Given the description of an element on the screen output the (x, y) to click on. 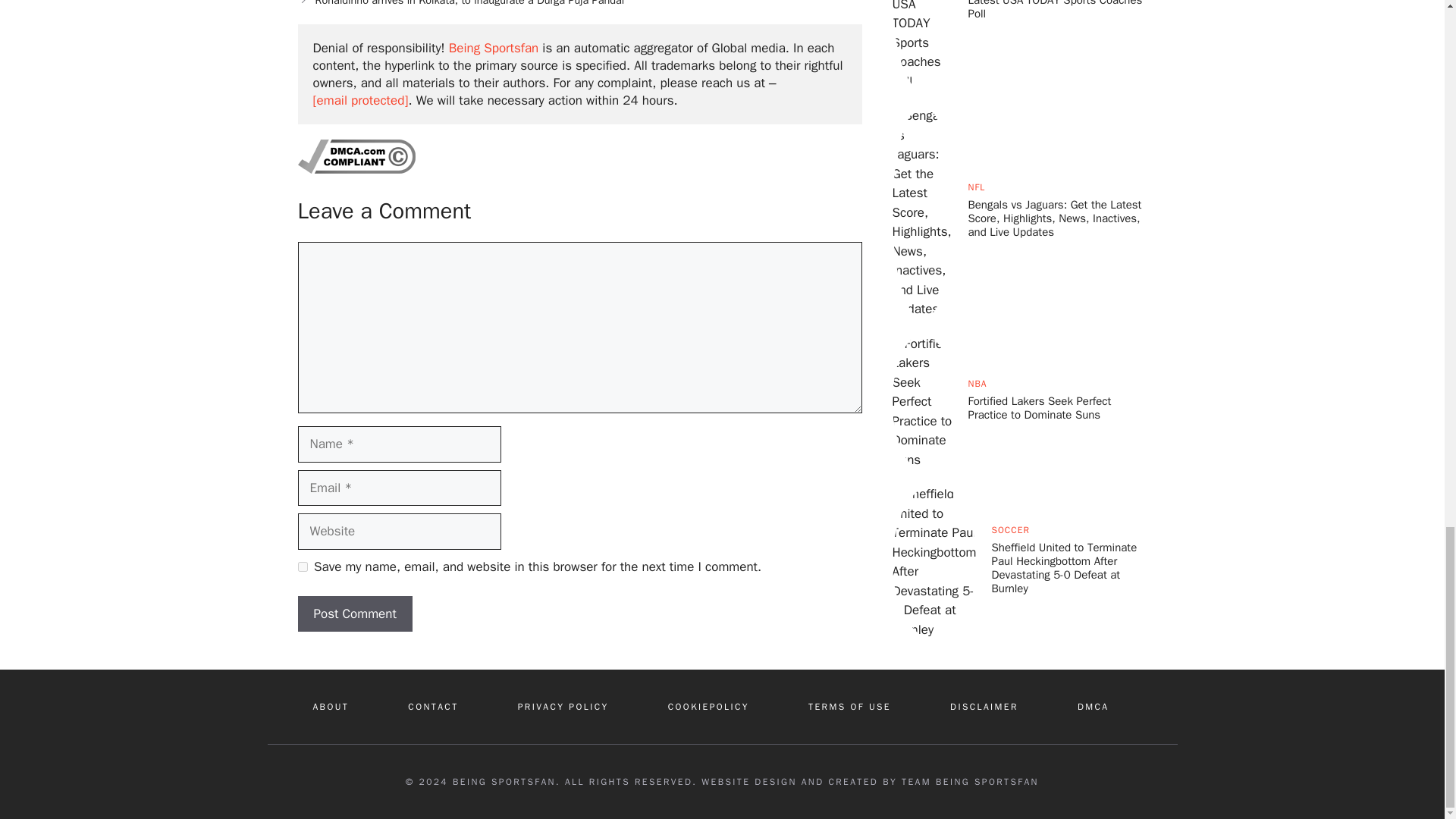
yes (302, 566)
DMCA Compliance information for beingsportsfan.com (355, 169)
Post Comment (354, 614)
Post Comment (354, 614)
Being Sportsfan (493, 48)
